Given the description of an element on the screen output the (x, y) to click on. 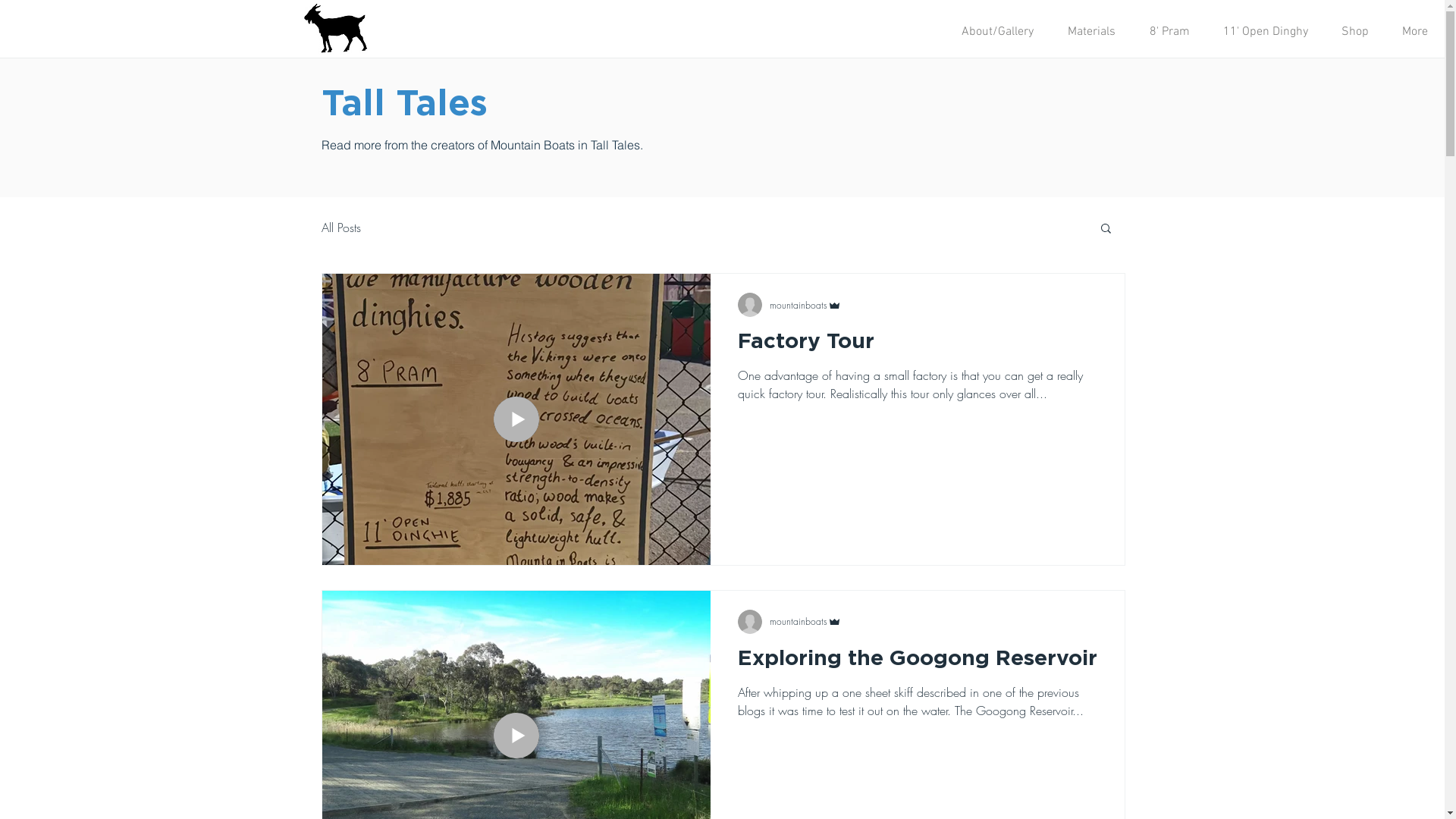
mountainboats Element type: text (804, 304)
8' Pram Element type: text (1169, 31)
11' Open Dinghy Element type: text (1265, 31)
mountainboats Element type: text (804, 621)
About/Gallery Element type: text (997, 31)
Factory Tour Element type: text (916, 346)
Materials Element type: text (1091, 31)
All Posts Element type: text (340, 227)
Exploring the Googong Reservoir Element type: text (916, 662)
Shop Element type: text (1354, 31)
